Given the description of an element on the screen output the (x, y) to click on. 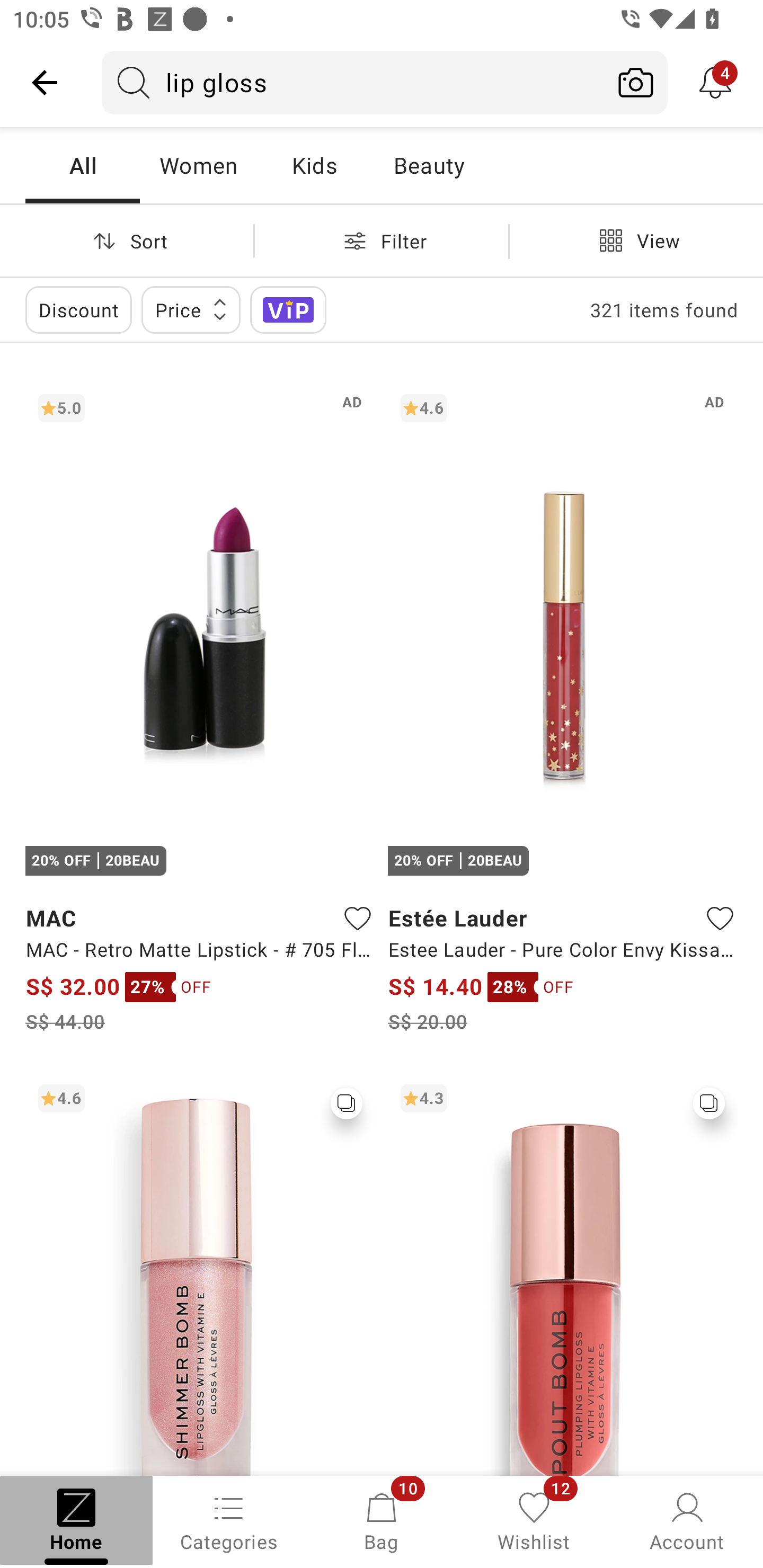
Navigate up (44, 82)
lip gloss (352, 82)
Women (198, 165)
Kids (314, 165)
Beauty (428, 165)
Sort (126, 240)
Filter (381, 240)
View (636, 240)
Discount (78, 309)
Price (190, 309)
4.6 (200, 1272)
4.3 (562, 1272)
Categories (228, 1519)
Bag, 10 new notifications Bag (381, 1519)
Wishlist, 12 new notifications Wishlist (533, 1519)
Account (686, 1519)
